Given the description of an element on the screen output the (x, y) to click on. 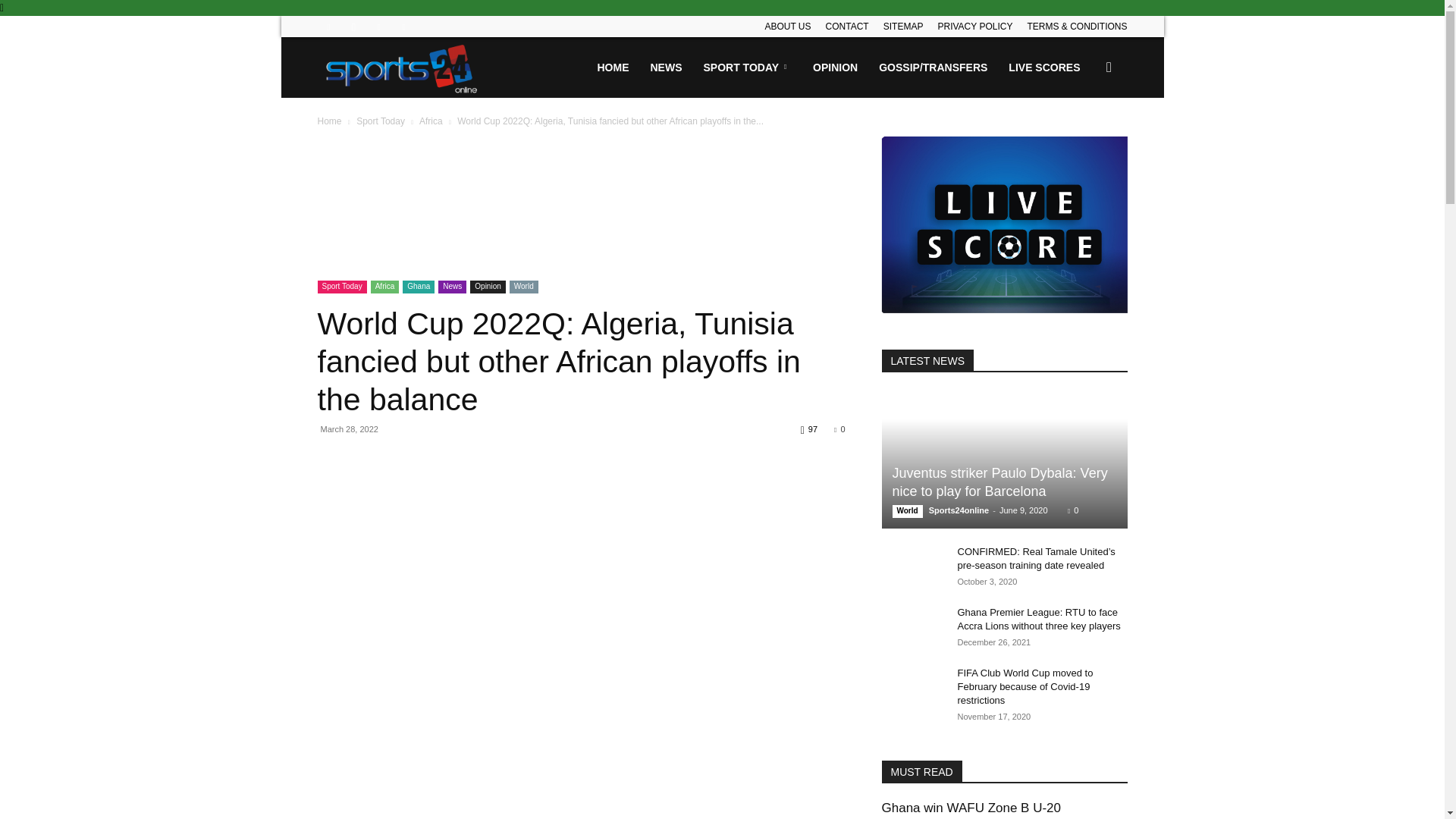
Youtube (403, 25)
Facebook (328, 25)
SITEMAP (903, 26)
PRIVACY POLICY (974, 26)
CONTACT (847, 26)
Sports24online (401, 67)
Twitter (379, 25)
Search (1085, 139)
Instagram (353, 25)
SPORT TODAY (748, 66)
